Given the description of an element on the screen output the (x, y) to click on. 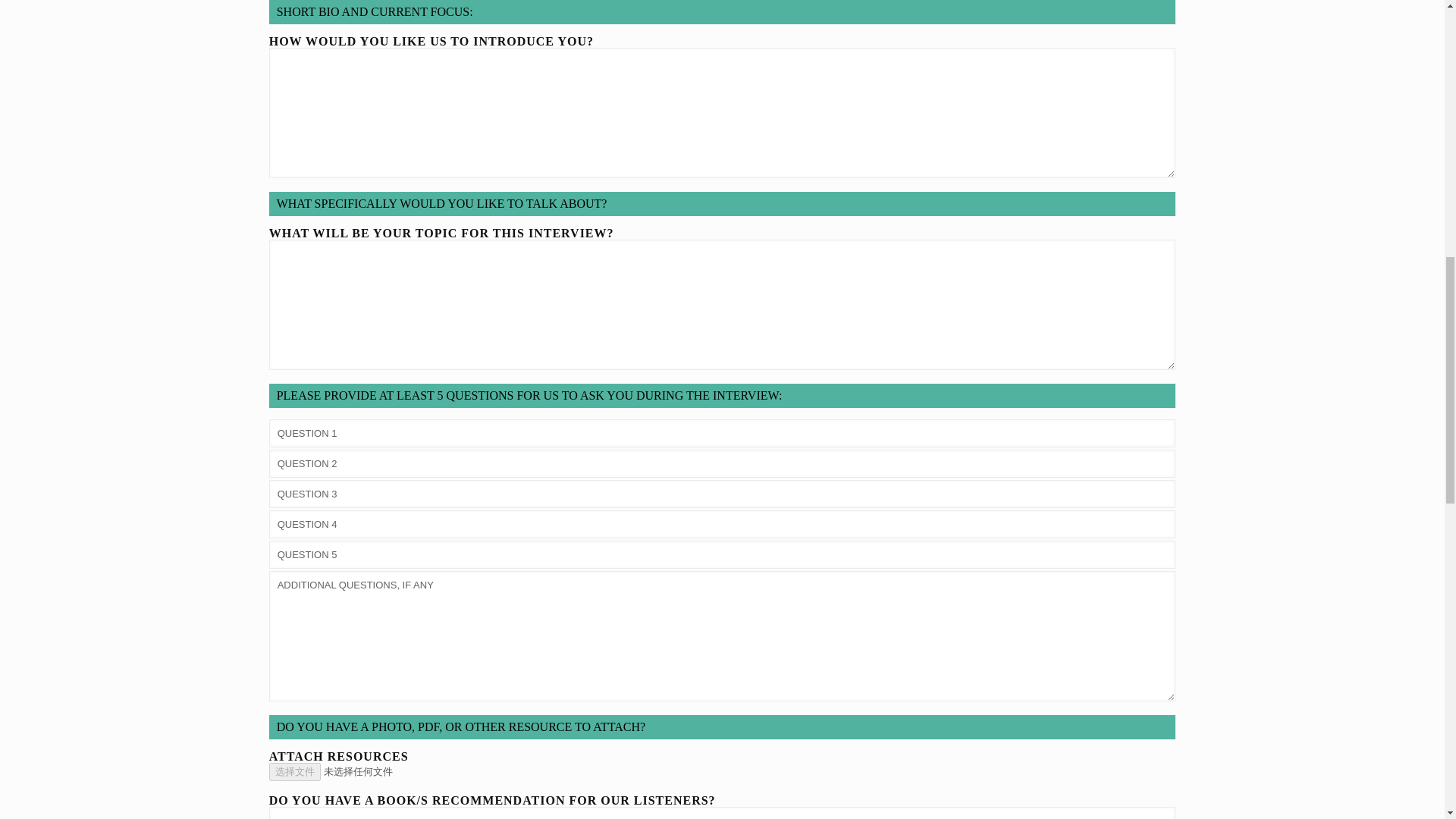
QUESTION 1 (722, 433)
QUESTION 2 (722, 463)
QUESTION 3 (722, 493)
QUESTION 5 (722, 554)
QUESTION 4 (722, 524)
